Given the description of an element on the screen output the (x, y) to click on. 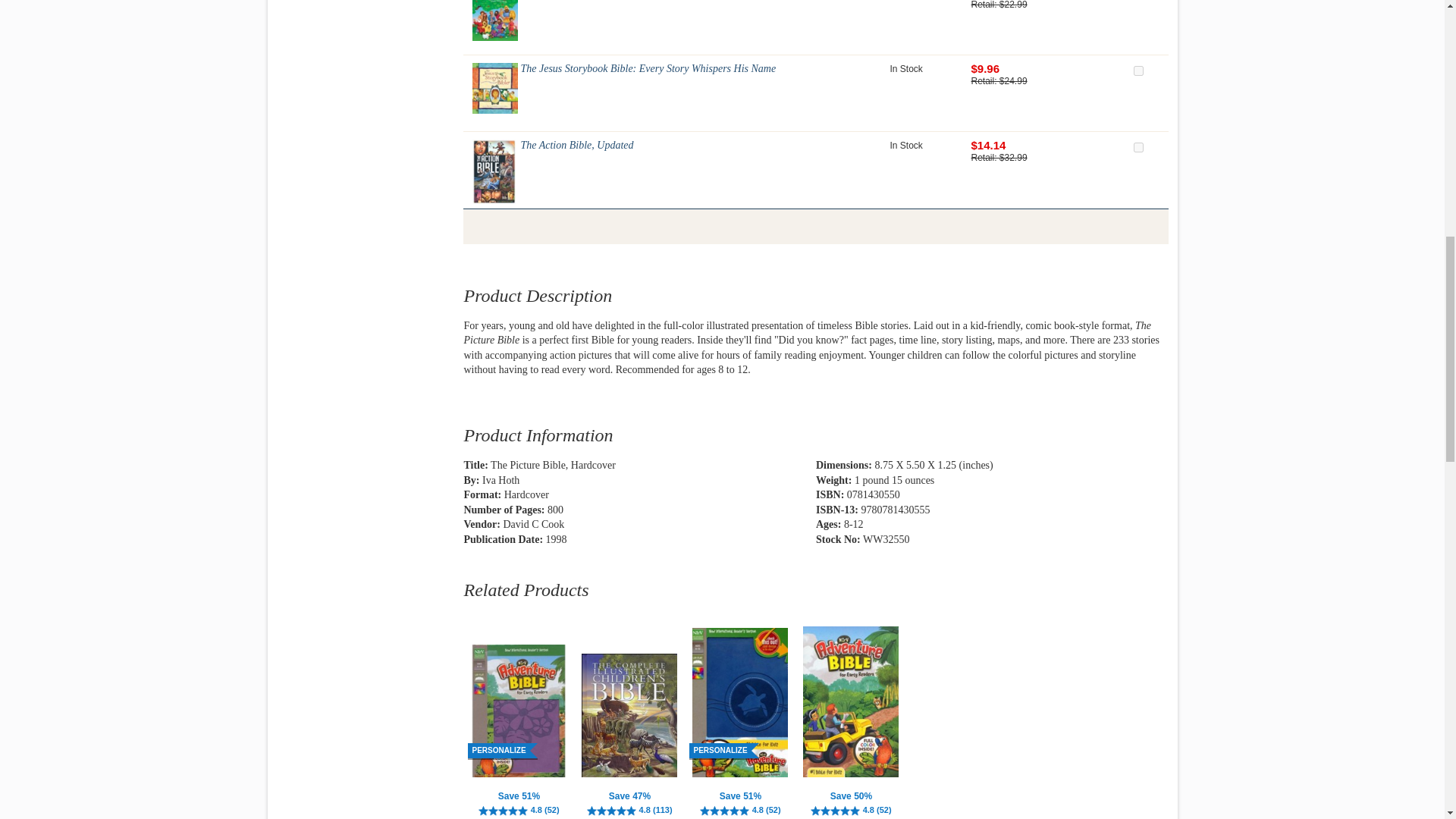
708257 (1137, 71)
The Beginner's Bible (494, 20)
777443 (1137, 147)
The Jesus Storybook Bible: Every Story Whispers His Name (494, 88)
